Given the description of an element on the screen output the (x, y) to click on. 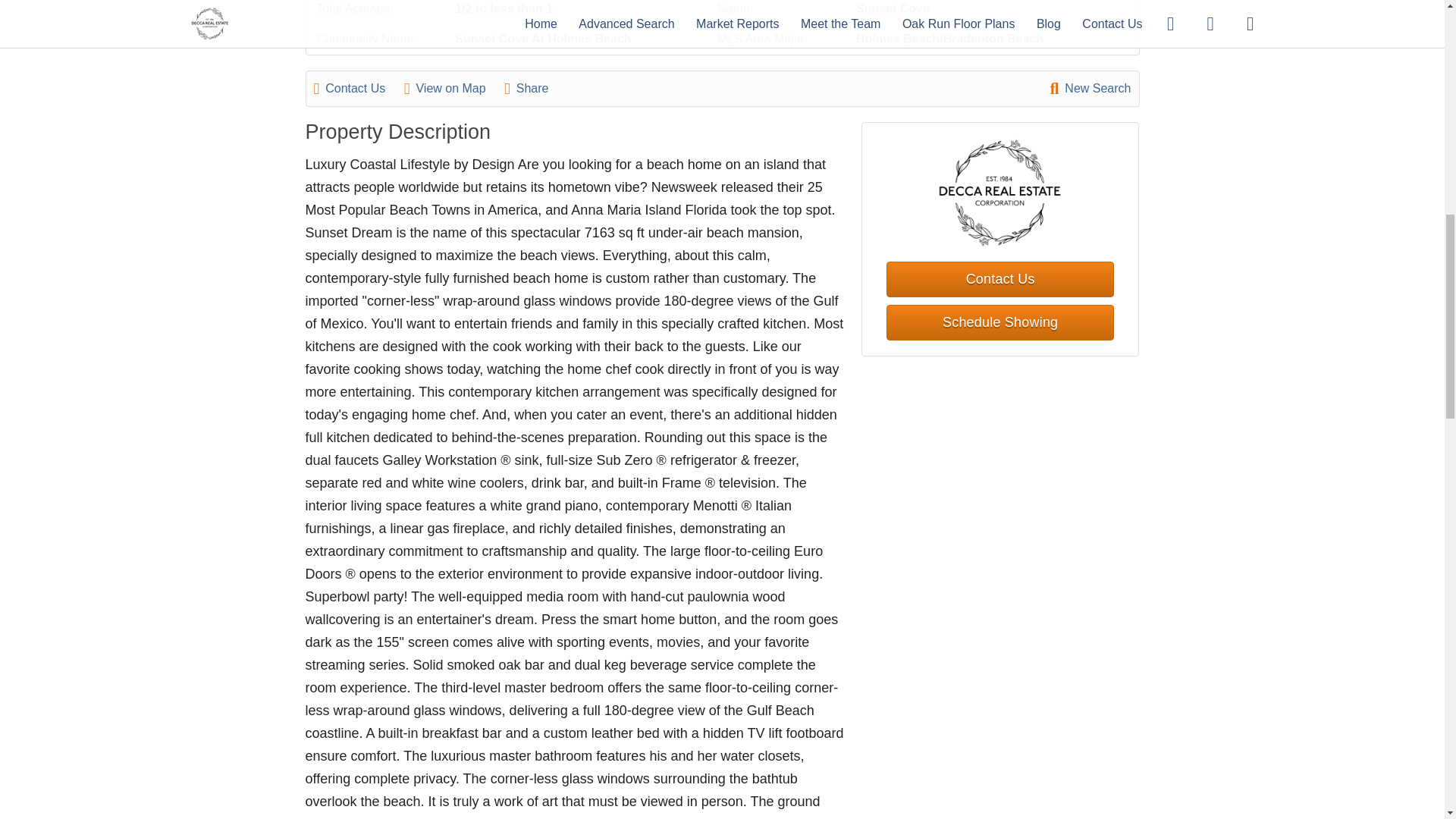
Contact Us (999, 278)
Schedule Showing (999, 322)
Share (533, 87)
Contact Us (357, 87)
New Search (1090, 87)
View on Map (452, 87)
